Given the description of an element on the screen output the (x, y) to click on. 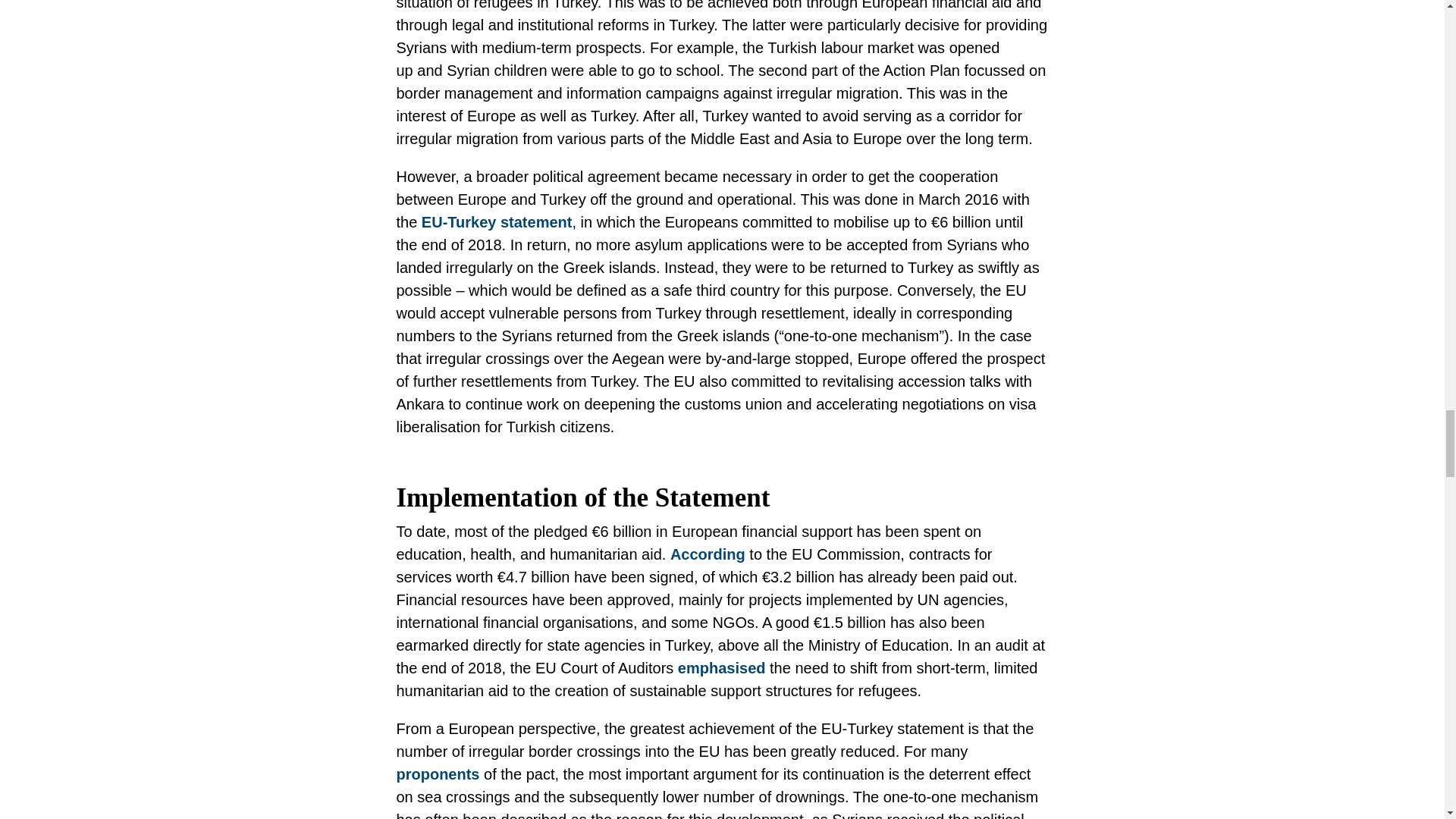
Implementation of the Statement (722, 498)
